Given the description of an element on the screen output the (x, y) to click on. 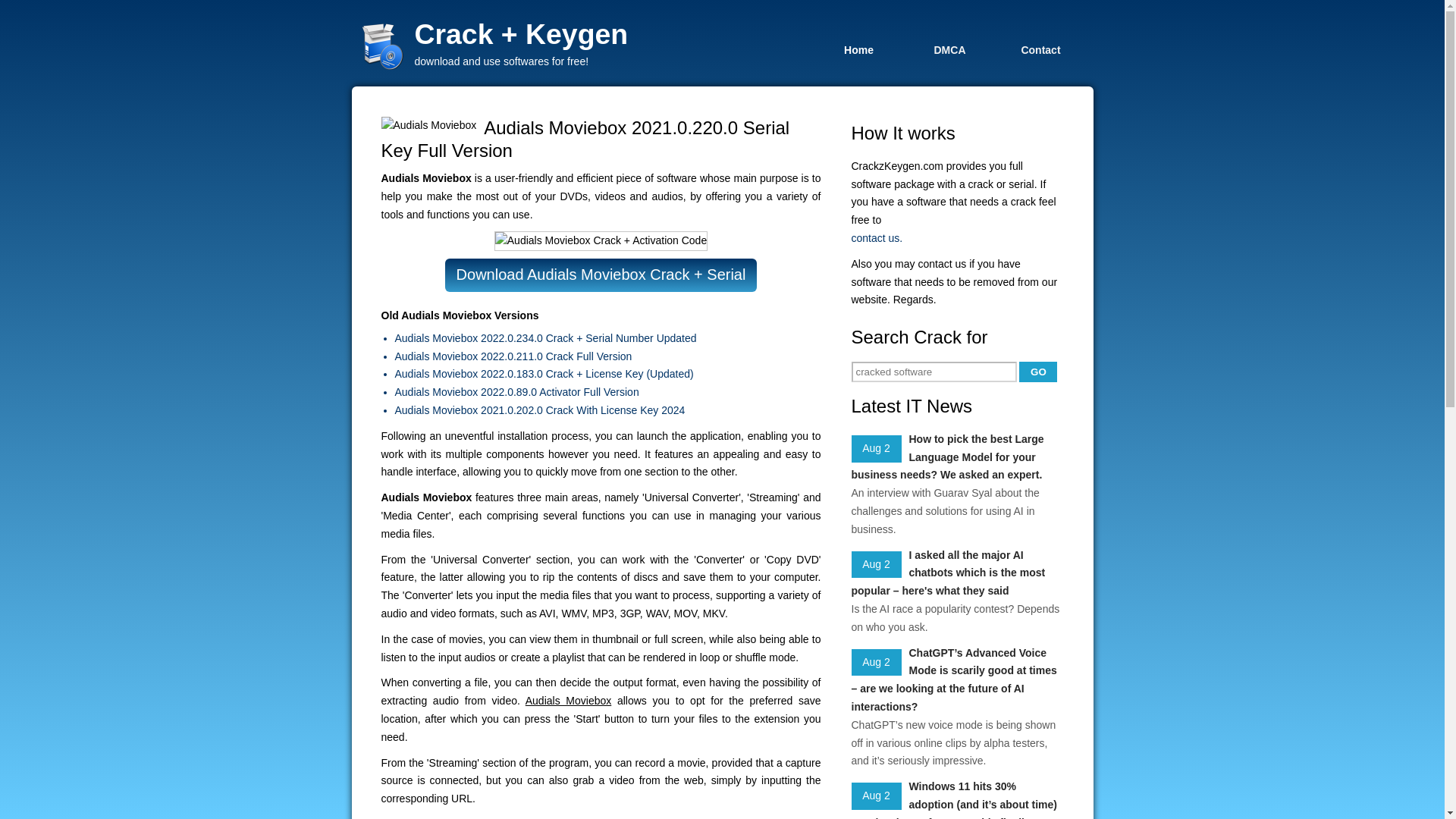
GO (1038, 371)
Contact (1040, 48)
Audials Moviebox 2022.0.211.0 Crack Full Version (607, 357)
Home (858, 48)
Audials Moviebox 2021.0.202.0 Crack With License Key 2024 (607, 411)
contact us. (956, 239)
GO (1038, 371)
DMCA (949, 48)
Audials Moviebox 2022.0.89.0 Activator Full Version (607, 393)
